Given the description of an element on the screen output the (x, y) to click on. 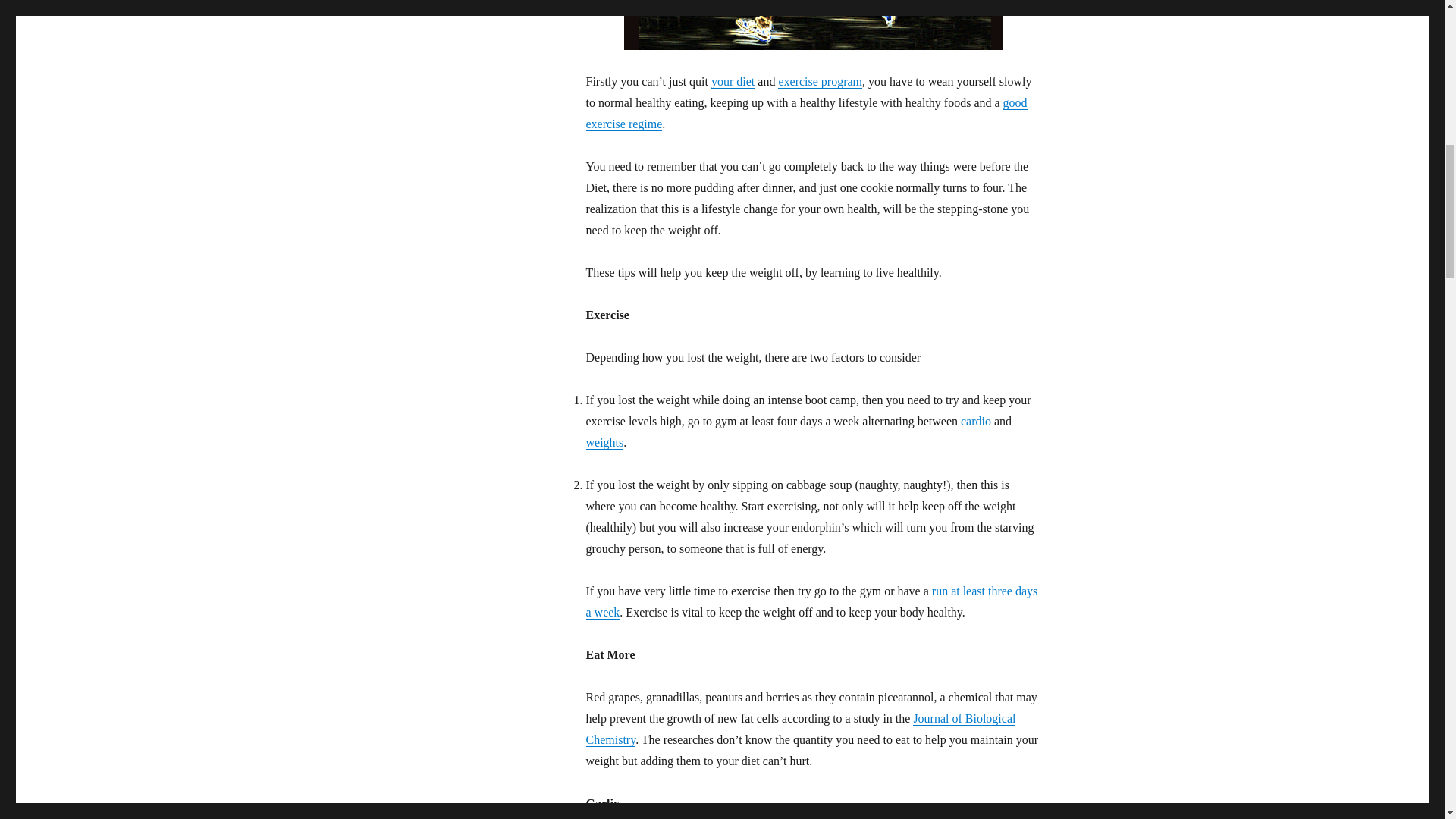
exercise program (819, 81)
weights (604, 441)
good exercise regime (805, 113)
cardio (977, 420)
run at least three days a week (810, 601)
your diet (732, 81)
Journal of Biological Chemistry (799, 728)
